Given the description of an element on the screen output the (x, y) to click on. 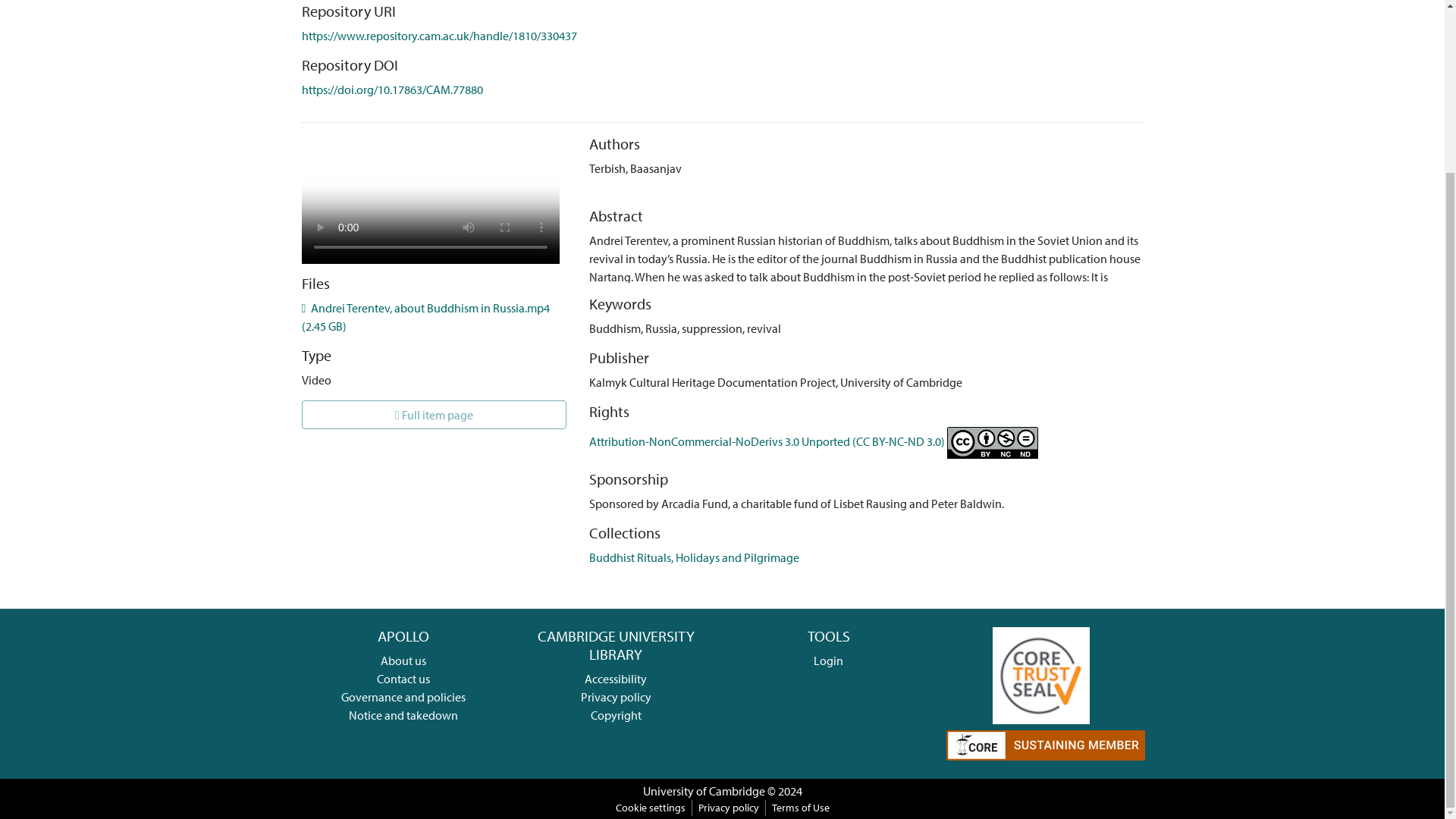
Contact us (403, 678)
Buddhist Rituals, Holidays and Pilgrimage (694, 557)
Governance and policies (402, 696)
Accessibility (615, 678)
Apollo CTS full application (1040, 673)
Notice and takedown (403, 714)
Full item page (434, 414)
Privacy policy (615, 696)
About us (403, 660)
